Given the description of an element on the screen output the (x, y) to click on. 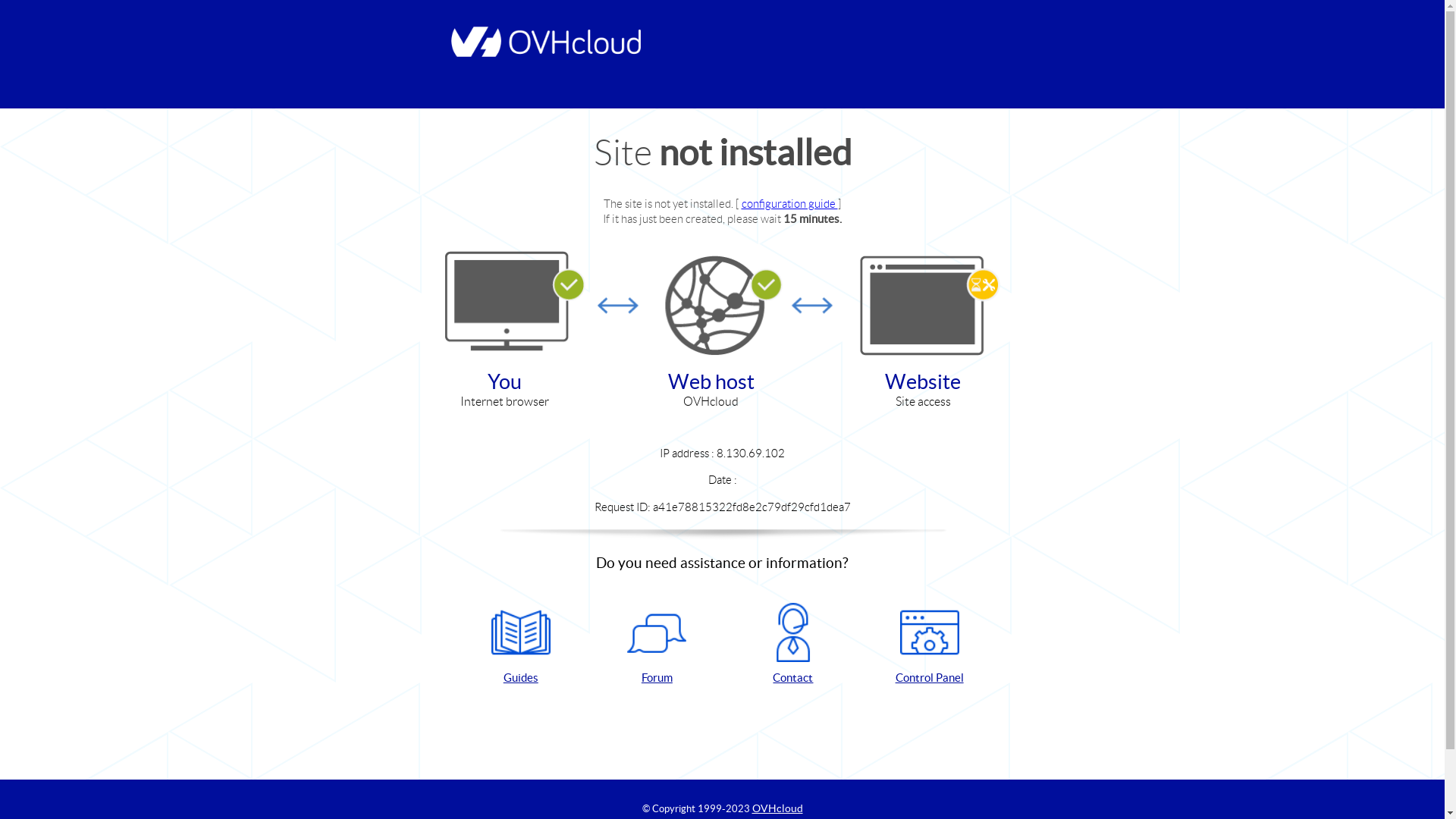
configuration guide Element type: text (789, 203)
Guides Element type: text (520, 644)
Control Panel Element type: text (929, 644)
Contact Element type: text (792, 644)
OVHcloud Element type: text (777, 808)
Forum Element type: text (656, 644)
